Given the description of an element on the screen output the (x, y) to click on. 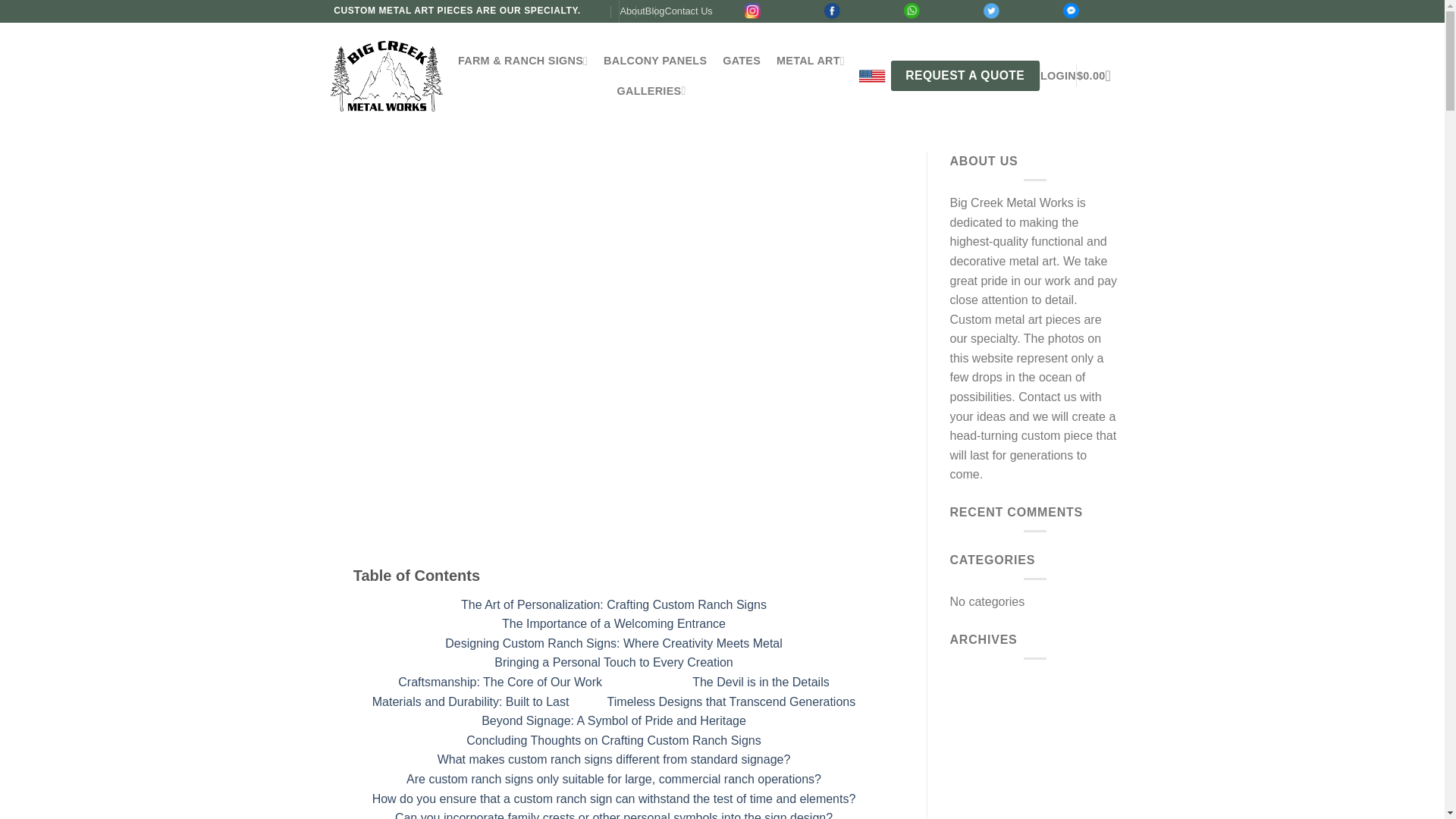
Contact Us (687, 11)
The Art of Personalization: Crafting Custom Ranch Signs (614, 604)
Bringing a Personal Touch to Every Creation (614, 662)
Concluding Thoughts on Crafting Custom Ranch Signs (612, 739)
METAL ART (810, 60)
About (632, 11)
LOGIN (1058, 75)
Beyond Signage: A Symbol of Pride and Heritage (613, 720)
Timeless Designs that Transcend Generations (731, 701)
GALLERIES (650, 90)
Cart (1098, 75)
Materials and Durability: Built to Last (470, 701)
The Devil is in the Details (761, 681)
